Given the description of an element on the screen output the (x, y) to click on. 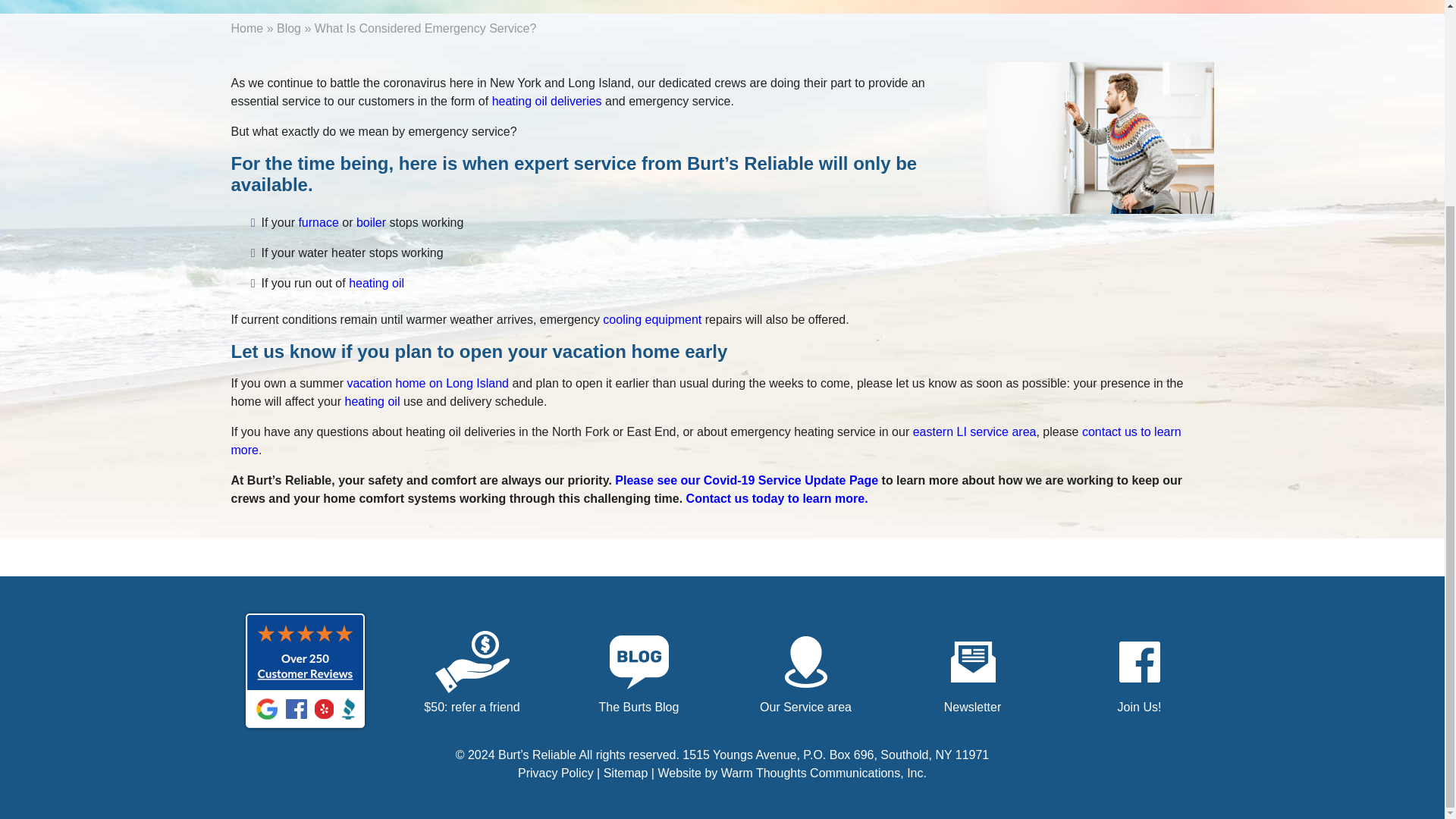
heating oil (376, 282)
vacation home (427, 382)
delivery options (547, 101)
service area (974, 431)
contact us (705, 440)
air conditioning (651, 318)
contact us (776, 498)
furnaces (317, 222)
covid19 (745, 480)
